Given the description of an element on the screen output the (x, y) to click on. 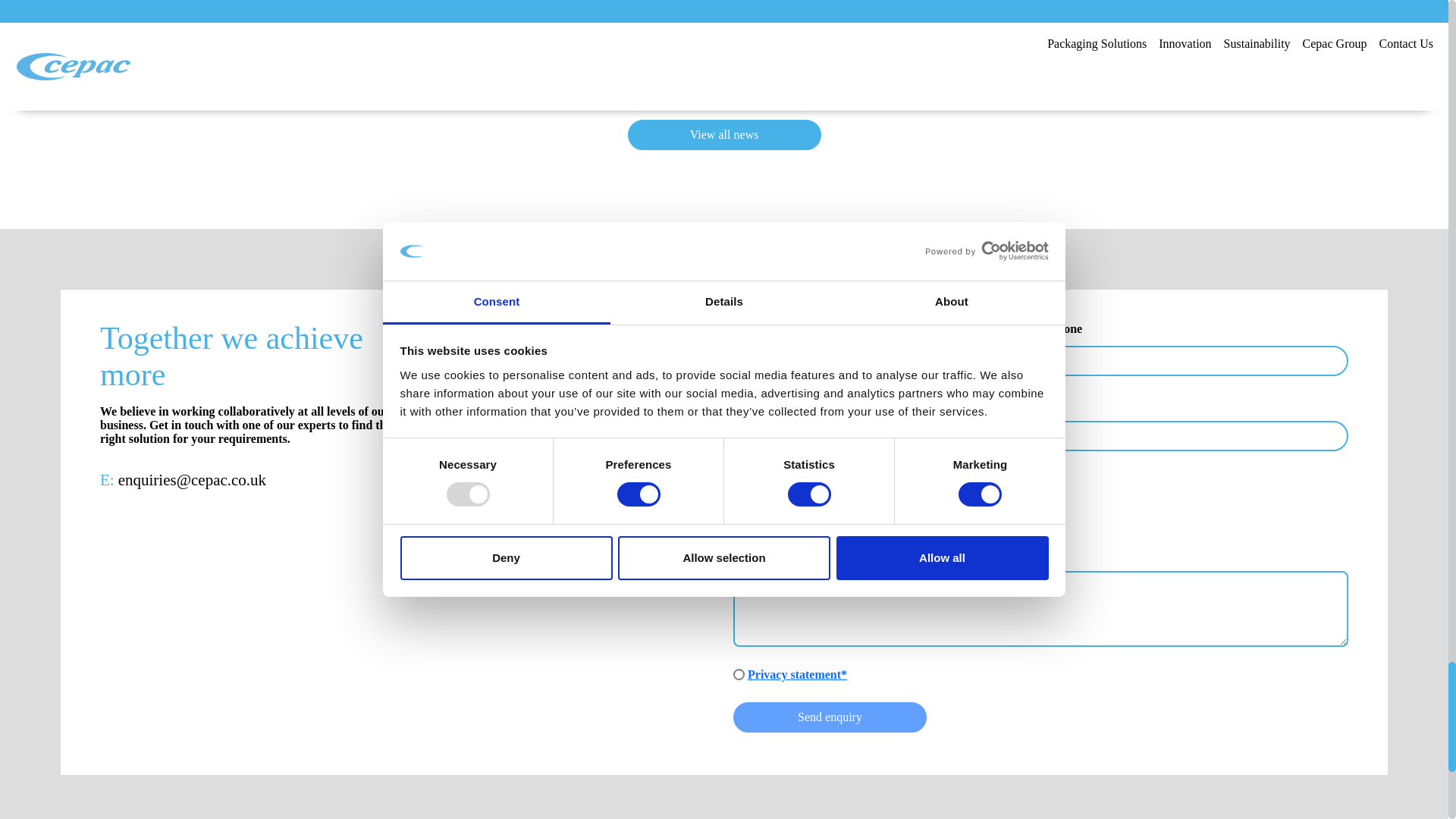
true (738, 674)
